Given the description of an element on the screen output the (x, y) to click on. 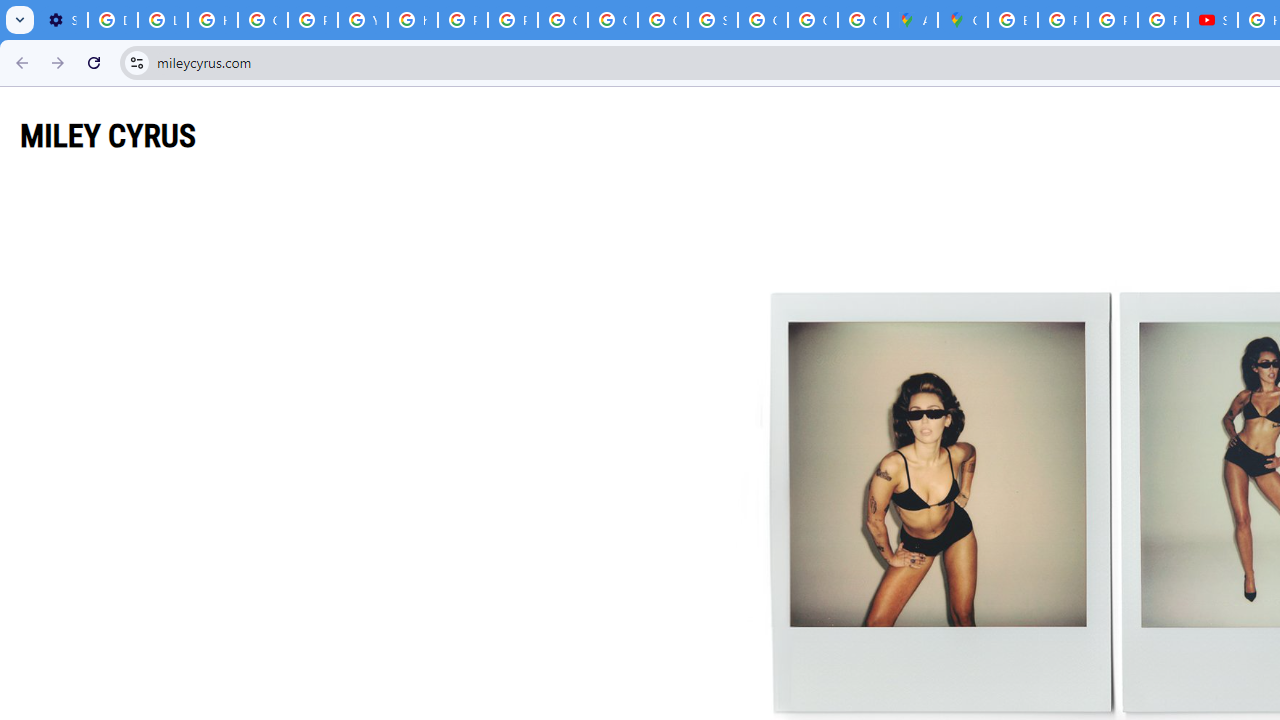
Privacy Help Center - Policies Help (1112, 20)
Privacy Help Center - Policies Help (312, 20)
https://scholar.google.com/ (412, 20)
Blogger Policies and Guidelines - Transparency Center (1013, 20)
Subscriptions - YouTube (1212, 20)
Delete photos & videos - Computer - Google Photos Help (113, 20)
Settings - Customize profile (62, 20)
